Given the description of an element on the screen output the (x, y) to click on. 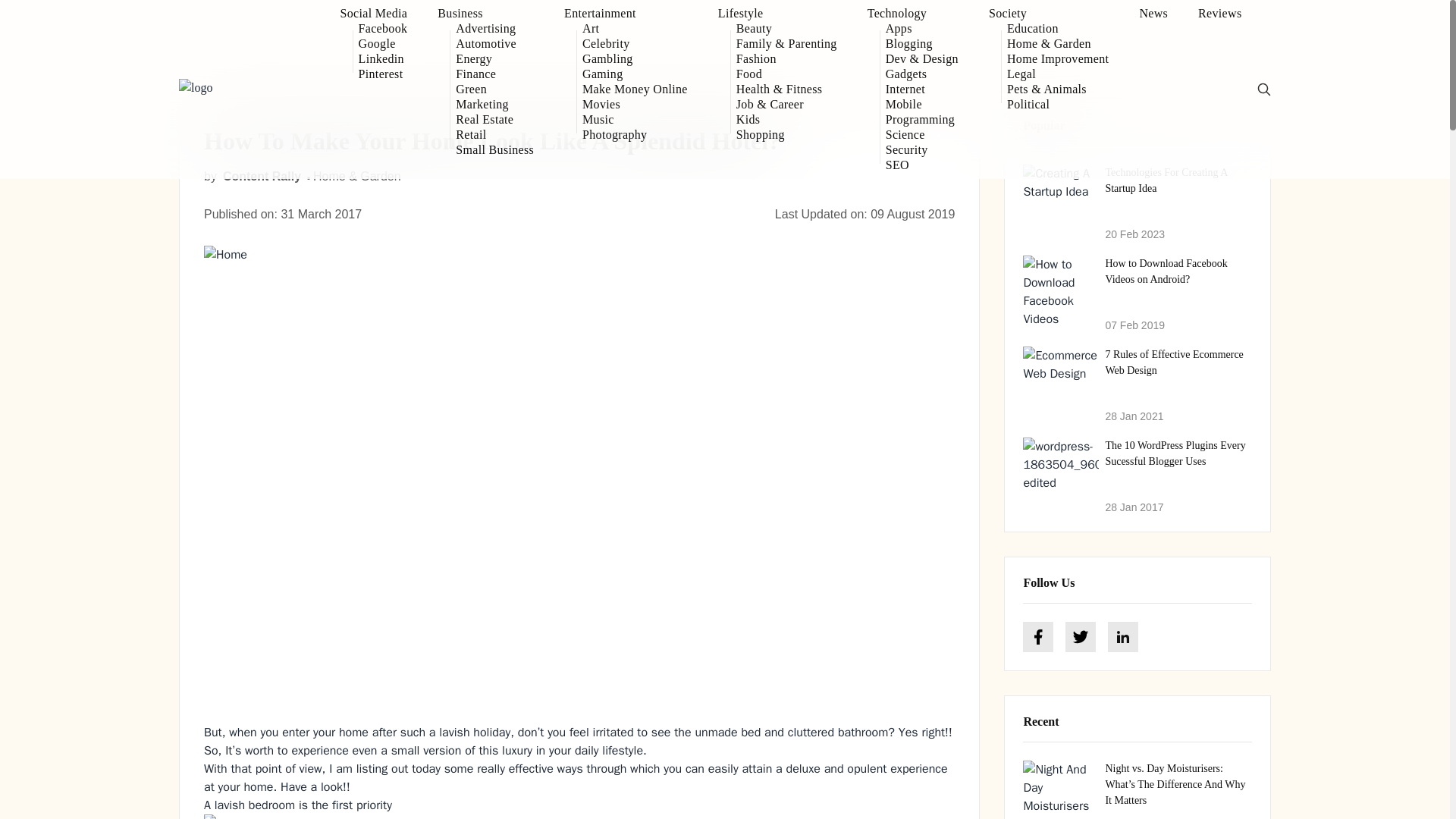
Entertainment (625, 13)
Business (486, 13)
Small Business (494, 150)
Social Media (373, 13)
Art (634, 28)
Internet (921, 89)
Fashion (786, 58)
Finance (494, 73)
Shopping (786, 134)
Make Money Online (634, 89)
Gadgets (921, 73)
Retail (494, 134)
Kids (786, 119)
Technology (912, 13)
Automotive (494, 43)
